Given the description of an element on the screen output the (x, y) to click on. 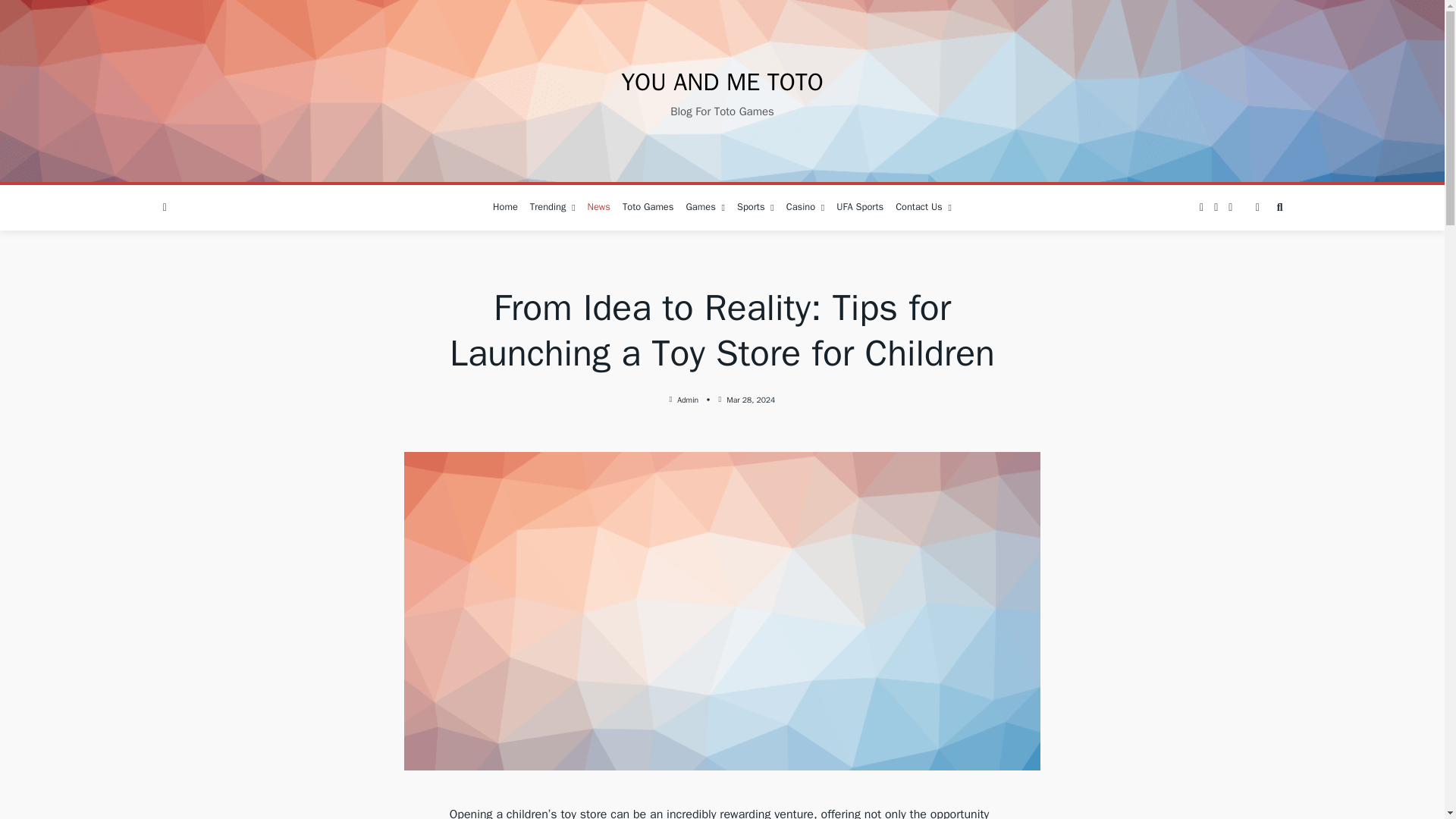
Games (704, 207)
Toto Games (647, 207)
Sports (755, 207)
News (597, 207)
Casino (805, 207)
Contact Us (923, 207)
Home (505, 207)
Trending (552, 207)
YOU AND ME TOTO (722, 81)
UFA Sports (859, 207)
